Given the description of an element on the screen output the (x, y) to click on. 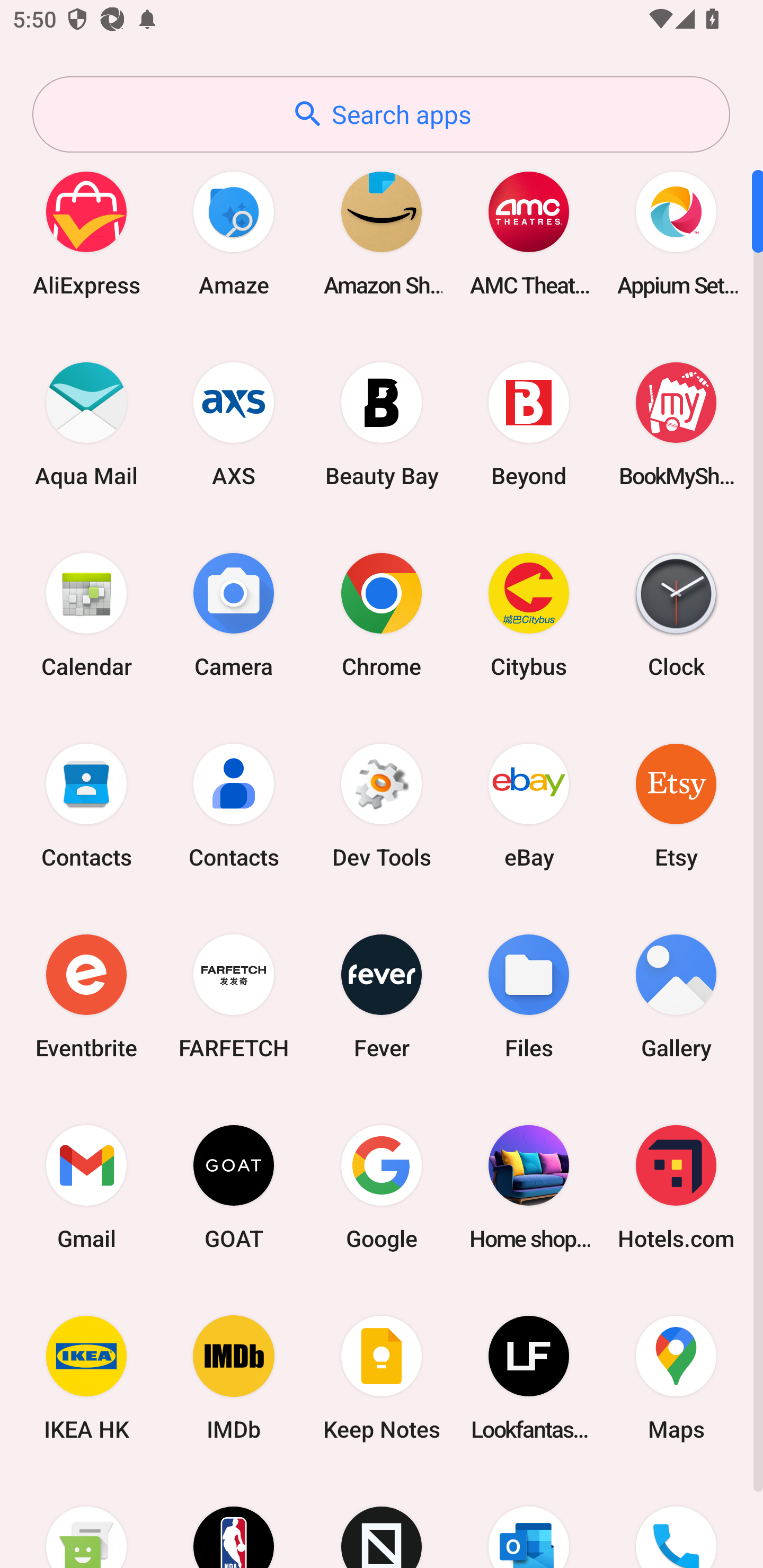
  Search apps (381, 114)
AliExpress (86, 233)
Amaze (233, 233)
Amazon Shopping (381, 233)
AMC Theatres (528, 233)
Appium Settings (676, 233)
Aqua Mail (86, 424)
AXS (233, 424)
Beauty Bay (381, 424)
Beyond (528, 424)
BookMyShow (676, 424)
Calendar (86, 614)
Camera (233, 614)
Chrome (381, 614)
Citybus (528, 614)
Clock (676, 614)
Contacts (86, 805)
Contacts (233, 805)
Dev Tools (381, 805)
eBay (528, 805)
Etsy (676, 805)
Eventbrite (86, 996)
FARFETCH (233, 996)
Fever (381, 996)
Files (528, 996)
Gallery (676, 996)
Gmail (86, 1186)
GOAT (233, 1186)
Google (381, 1186)
Home shopping (528, 1186)
Hotels.com (676, 1186)
IKEA HK (86, 1377)
IMDb (233, 1377)
Keep Notes (381, 1377)
Lookfantastic (528, 1377)
Maps (676, 1377)
